Given the description of an element on the screen output the (x, y) to click on. 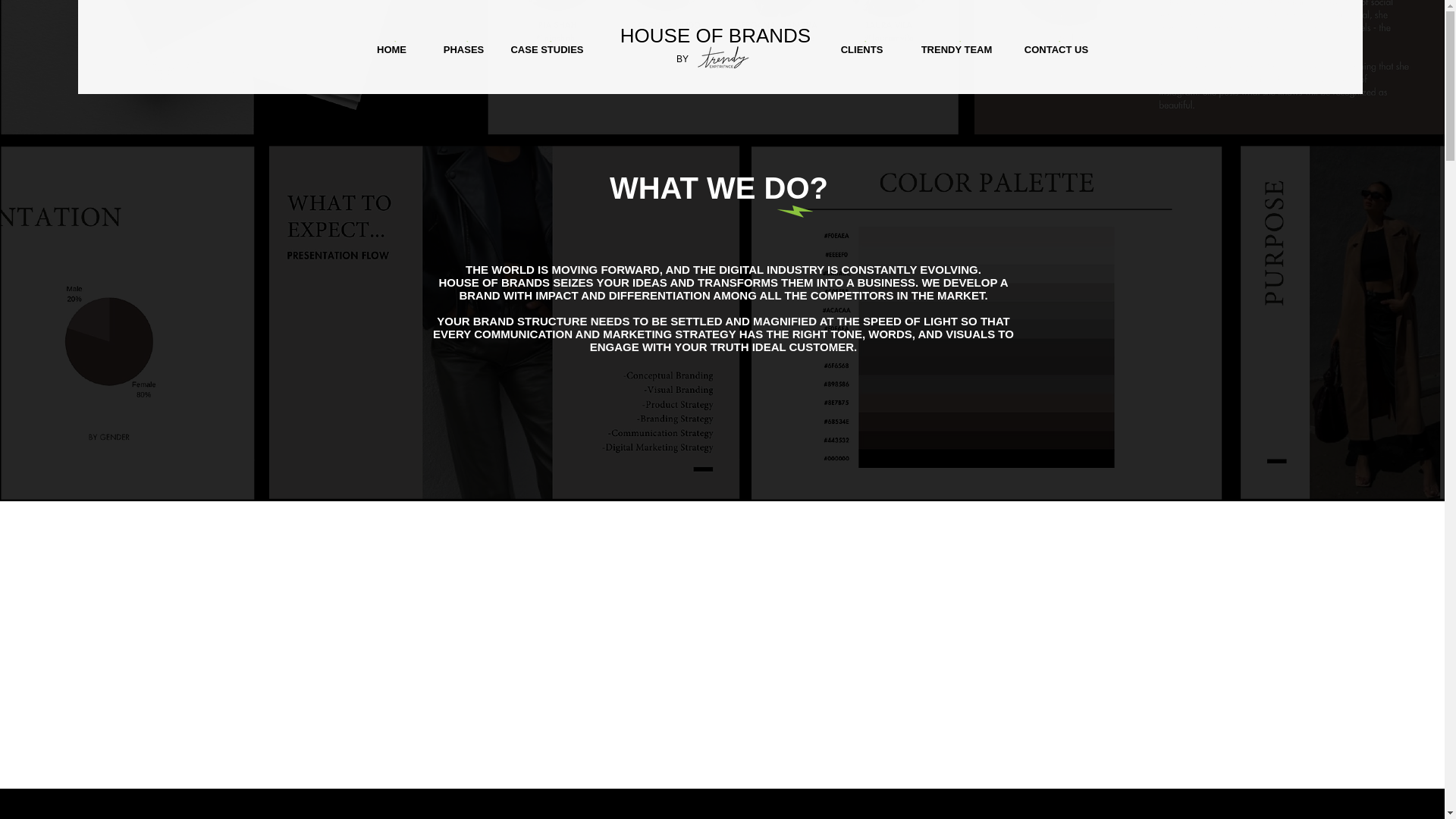
HOME (393, 46)
TRENDY TEAM (957, 46)
CASE STUDIES (547, 46)
CONTACT US (1057, 46)
PHASES (464, 46)
CLIENTS (863, 46)
